Given the description of an element on the screen output the (x, y) to click on. 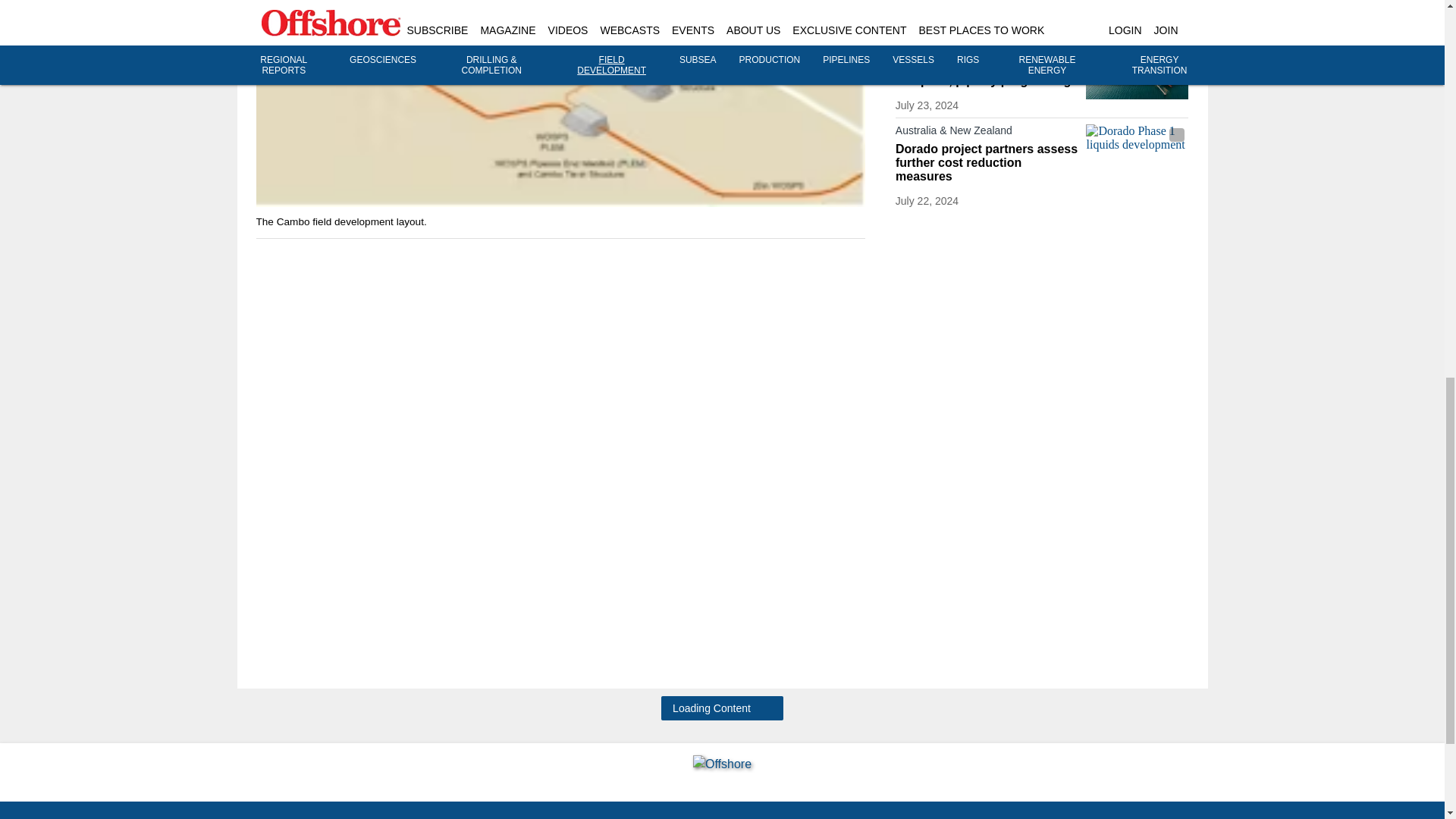
Dorado Phase 1 liquids development (1137, 152)
The Cambo field development layout. (560, 104)
